Given the description of an element on the screen output the (x, y) to click on. 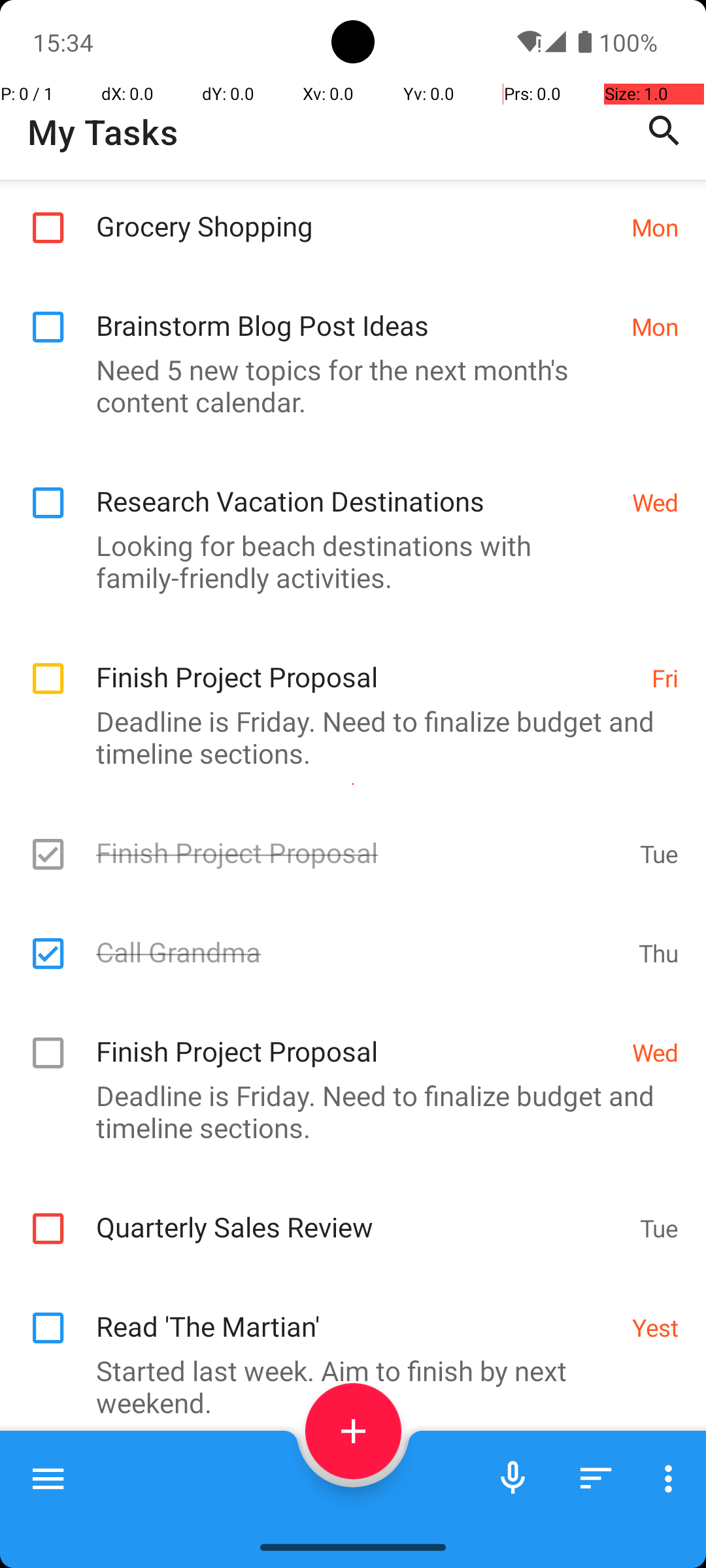
Need 5 new topics for the next month's content calendar. Element type: android.widget.TextView (346, 385)
Looking for beach destinations with family-friendly activities. Element type: android.widget.TextView (346, 560)
Quarterly Sales Review Element type: android.widget.TextView (361, 1212)
